Given the description of an element on the screen output the (x, y) to click on. 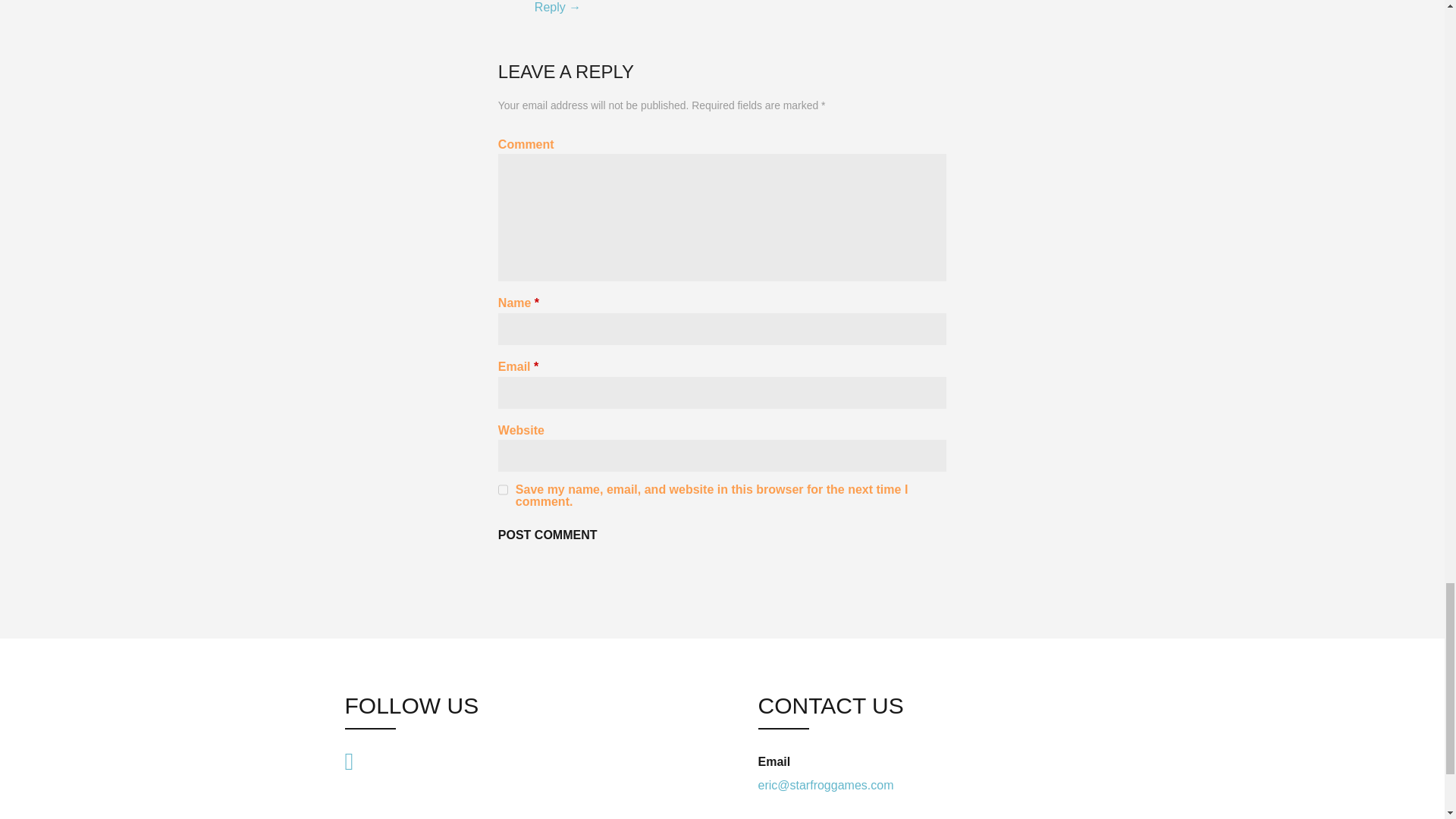
yes (502, 490)
Post Comment (546, 535)
Reply (557, 6)
Post Comment (546, 535)
Visit Star Frog Games on LinkedIn (348, 759)
